Given the description of an element on the screen output the (x, y) to click on. 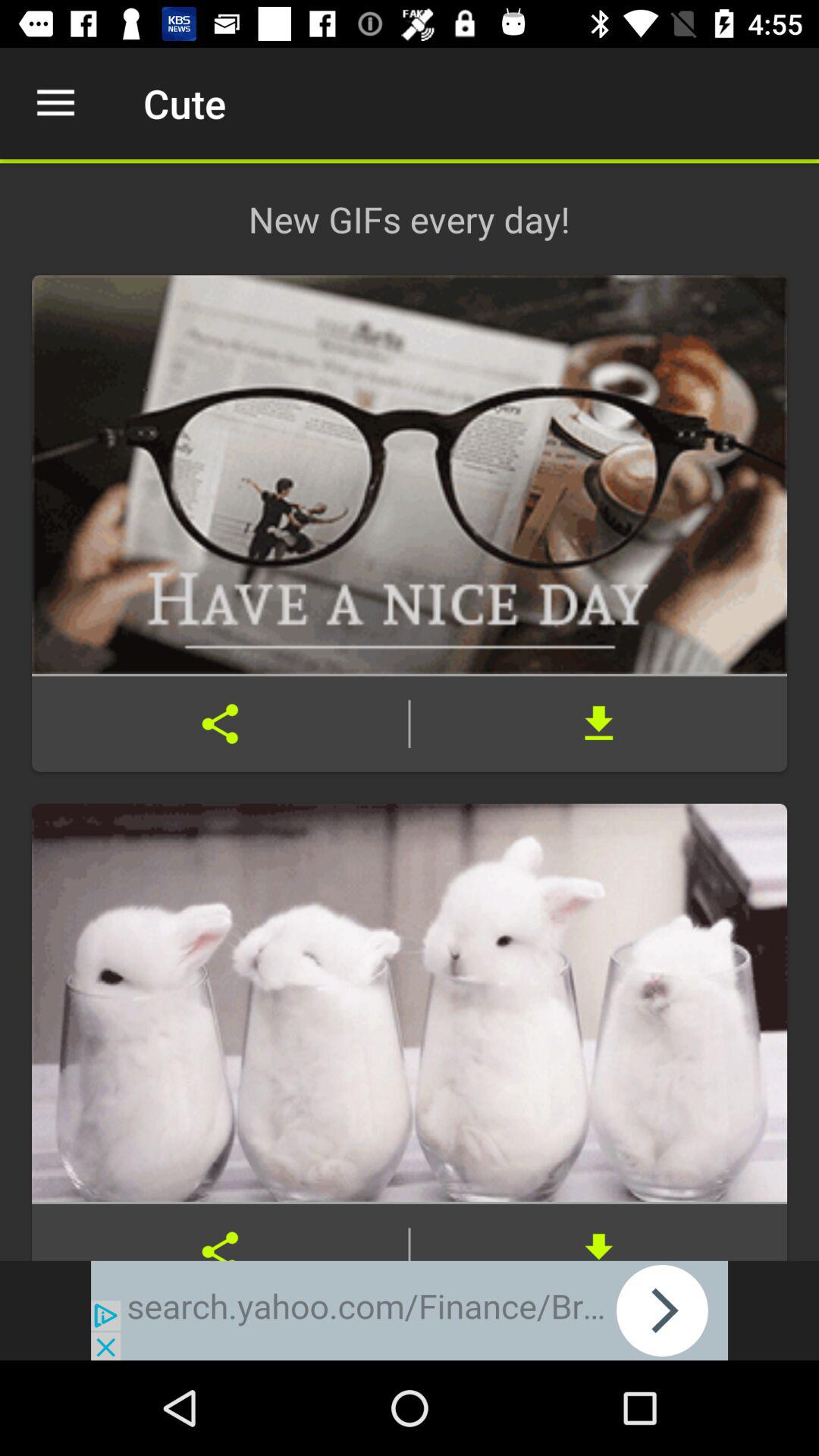
go to play (409, 1310)
